Given the description of an element on the screen output the (x, y) to click on. 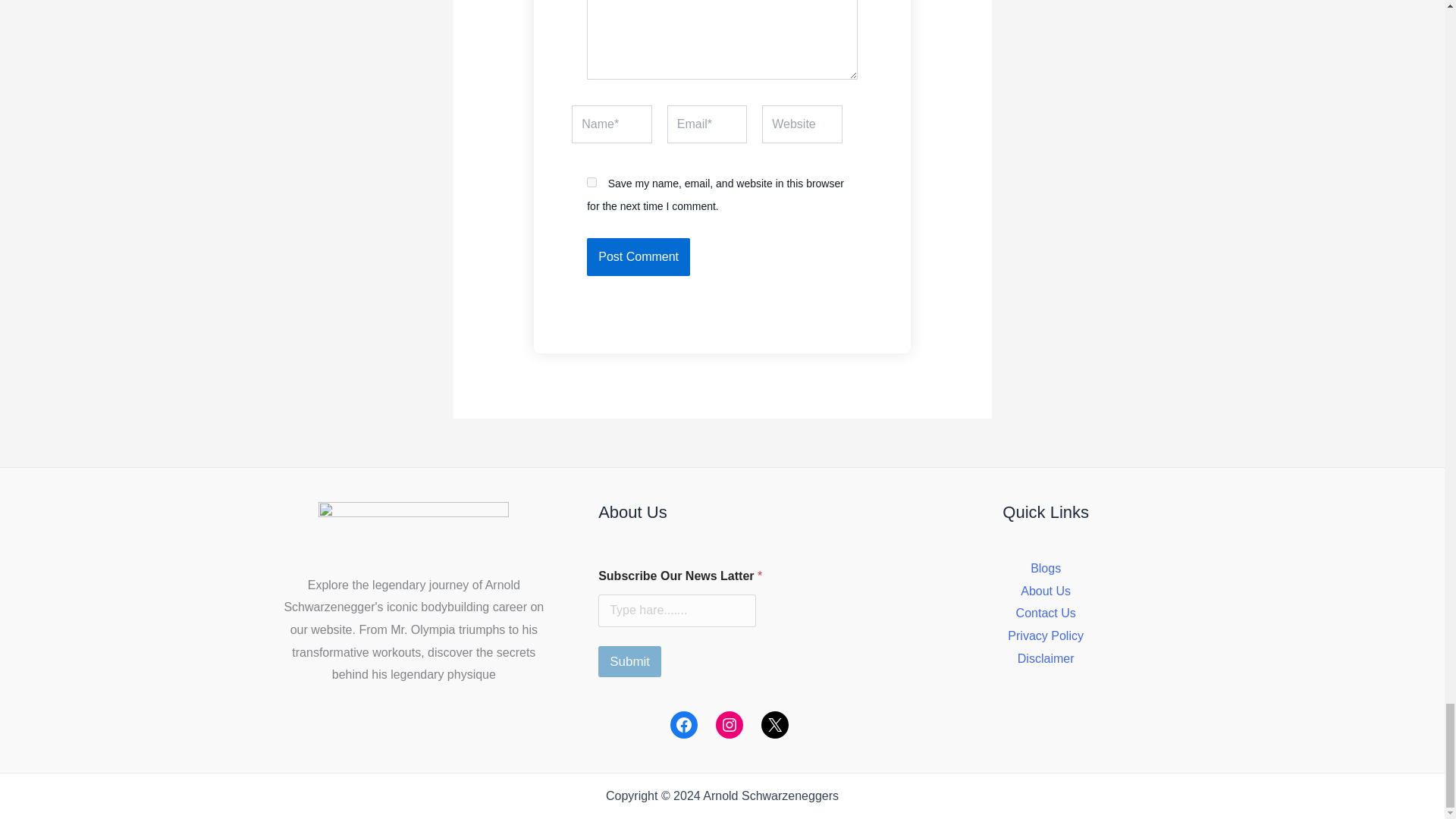
Post Comment (638, 257)
yes (591, 182)
